Given the description of an element on the screen output the (x, y) to click on. 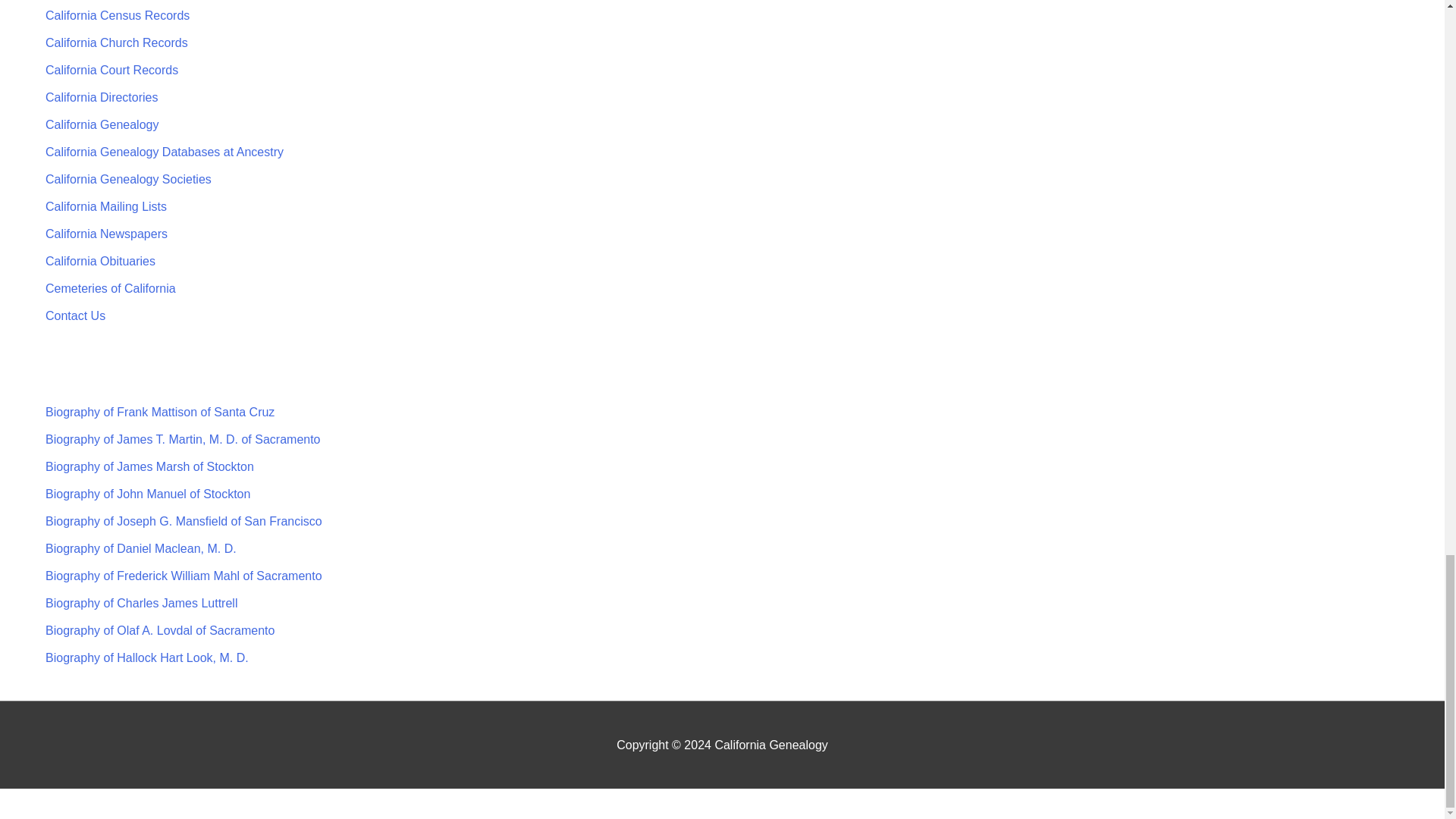
California Census Records (117, 15)
California Church Records (116, 42)
